Given the description of an element on the screen output the (x, y) to click on. 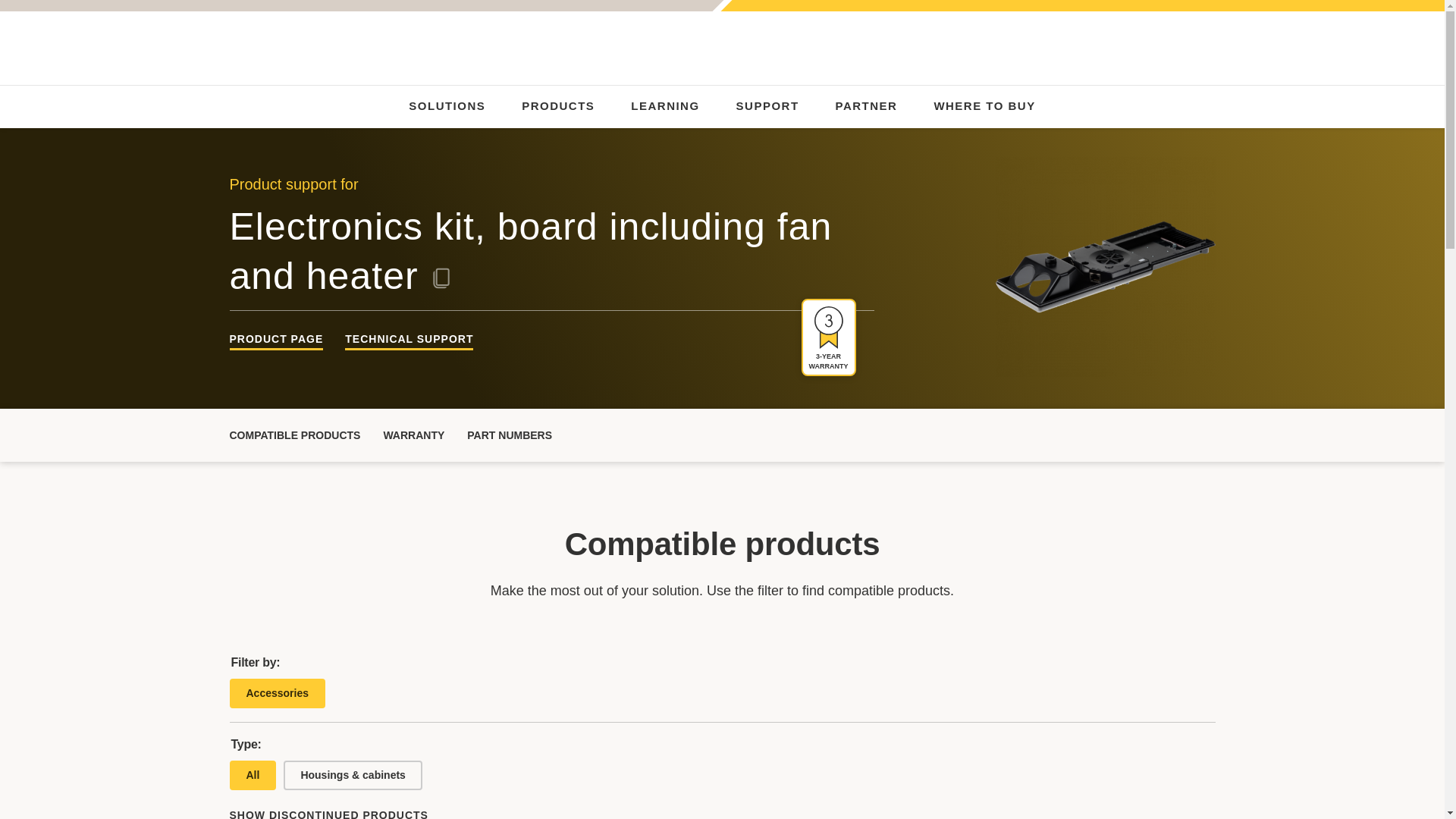
SOLUTIONS (446, 105)
Home (277, 48)
